Given the description of an element on the screen output the (x, y) to click on. 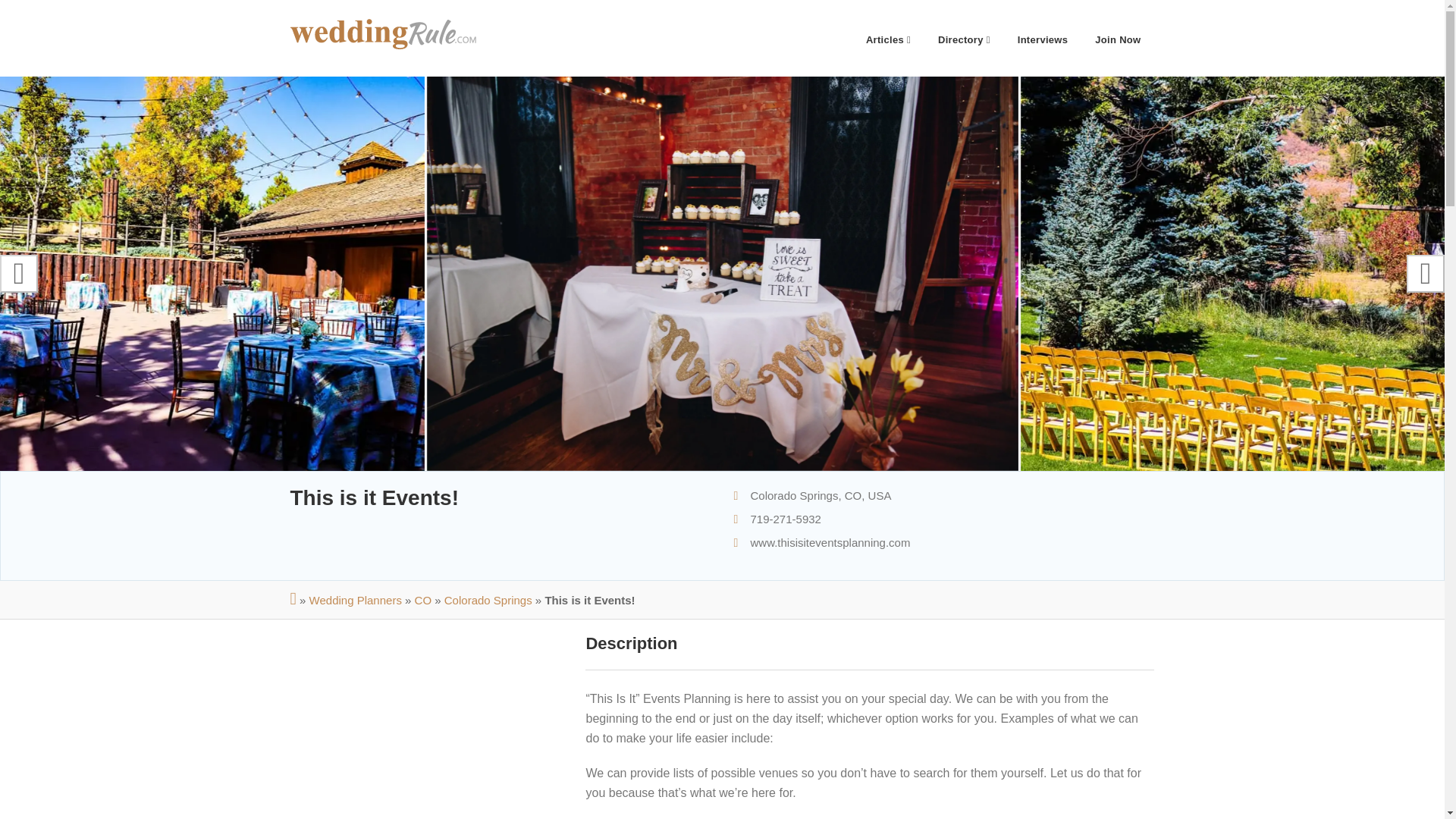
Articles (887, 38)
CO (423, 599)
Join Now (1117, 38)
Wedding Planners (354, 599)
www.thisisiteventsplanning.com (831, 542)
prev (18, 273)
Directory (964, 38)
Interviews (1042, 38)
